Given the description of an element on the screen output the (x, y) to click on. 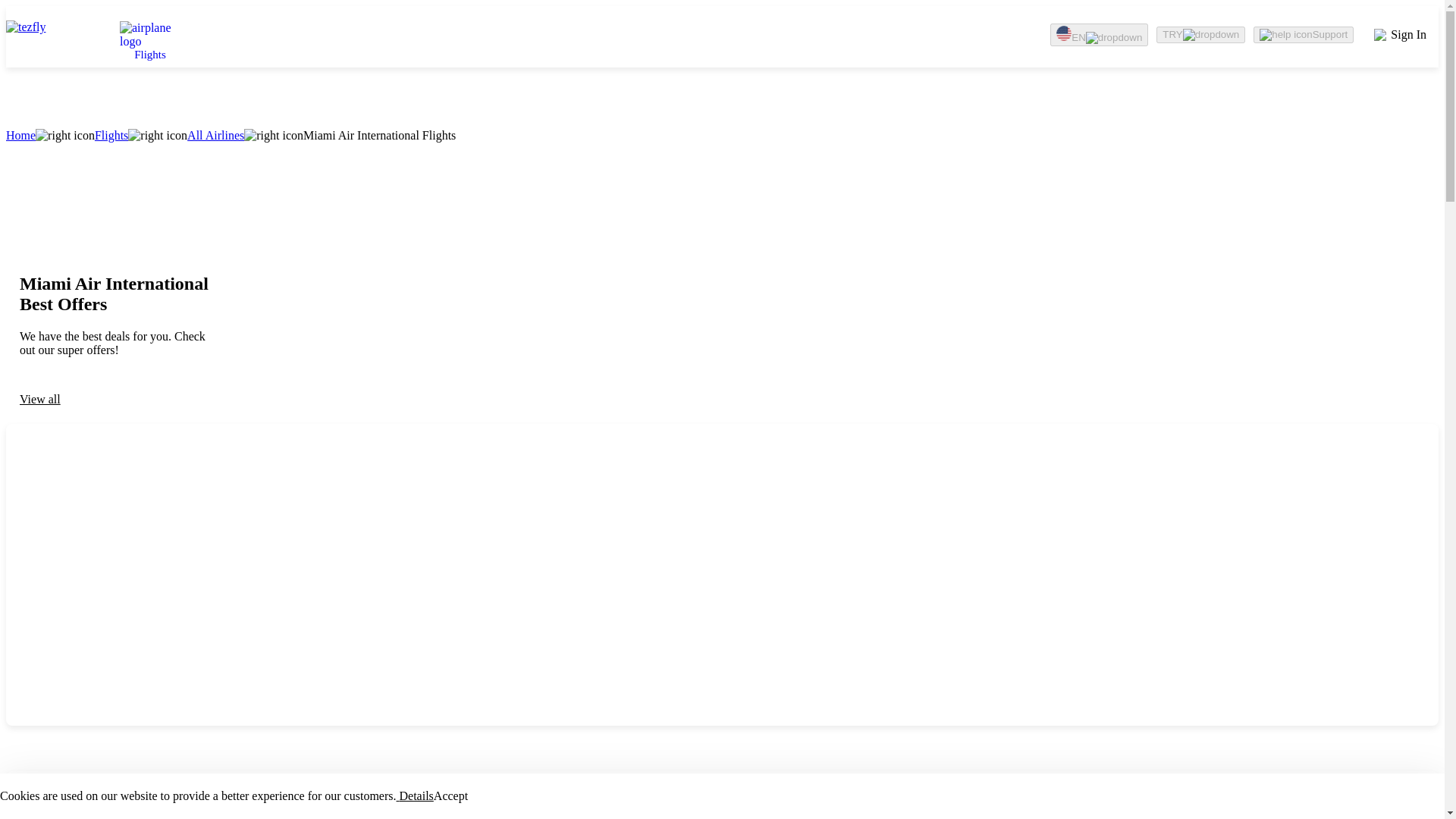
View all (114, 399)
EN (1098, 33)
Home (19, 134)
Flights (111, 134)
TRY (1200, 33)
Flights (149, 36)
All Airlines (215, 134)
Support (1303, 33)
